Given the description of an element on the screen output the (x, y) to click on. 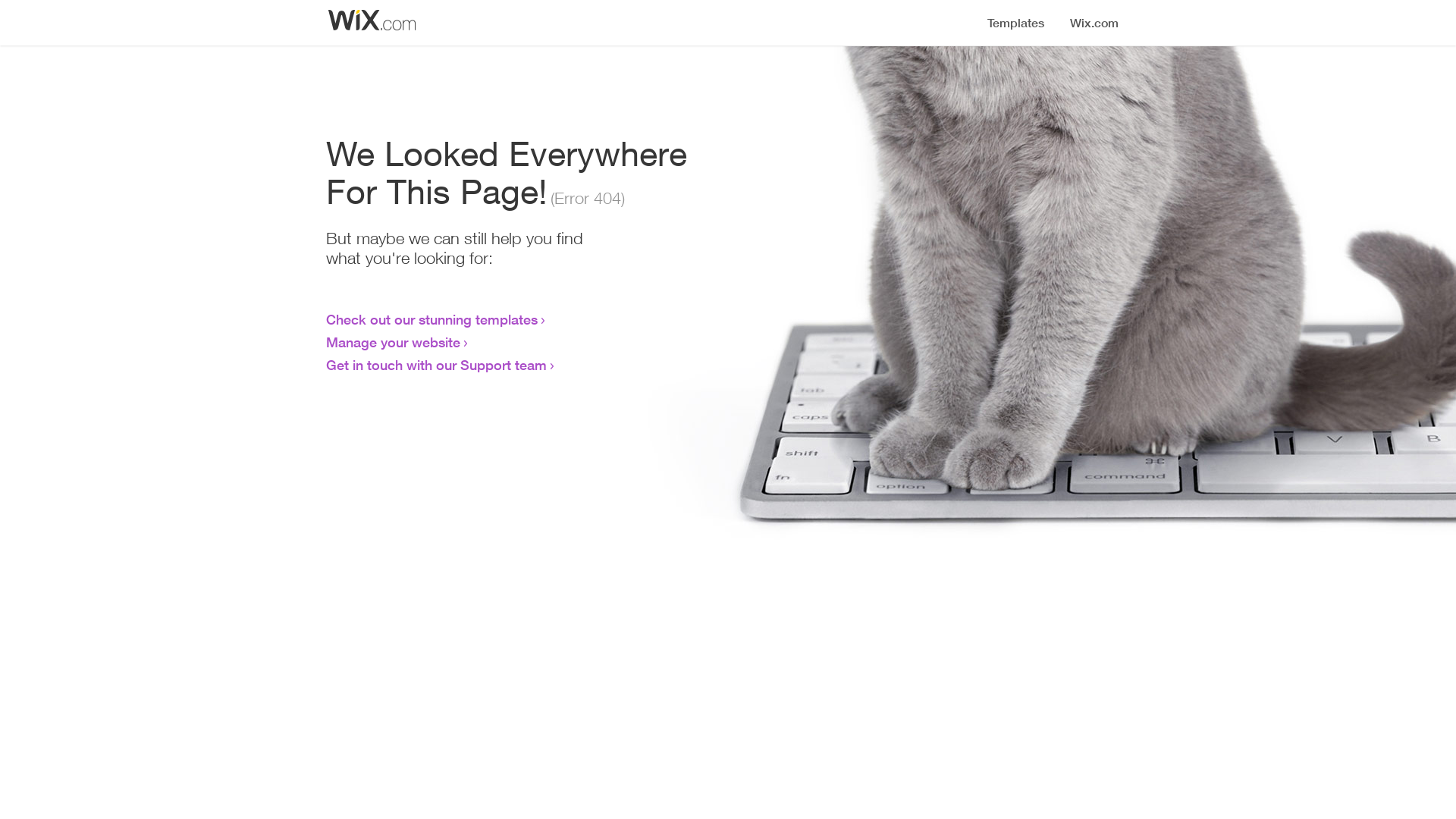
Check out our stunning templates Element type: text (431, 318)
Get in touch with our Support team Element type: text (436, 364)
Manage your website Element type: text (393, 341)
